Given the description of an element on the screen output the (x, y) to click on. 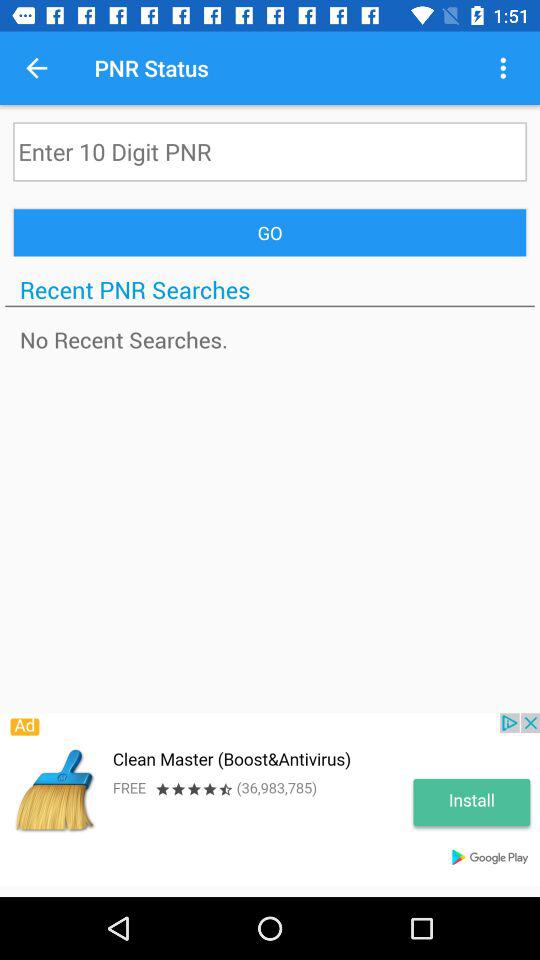
know about the advertisement (270, 799)
